Given the description of an element on the screen output the (x, y) to click on. 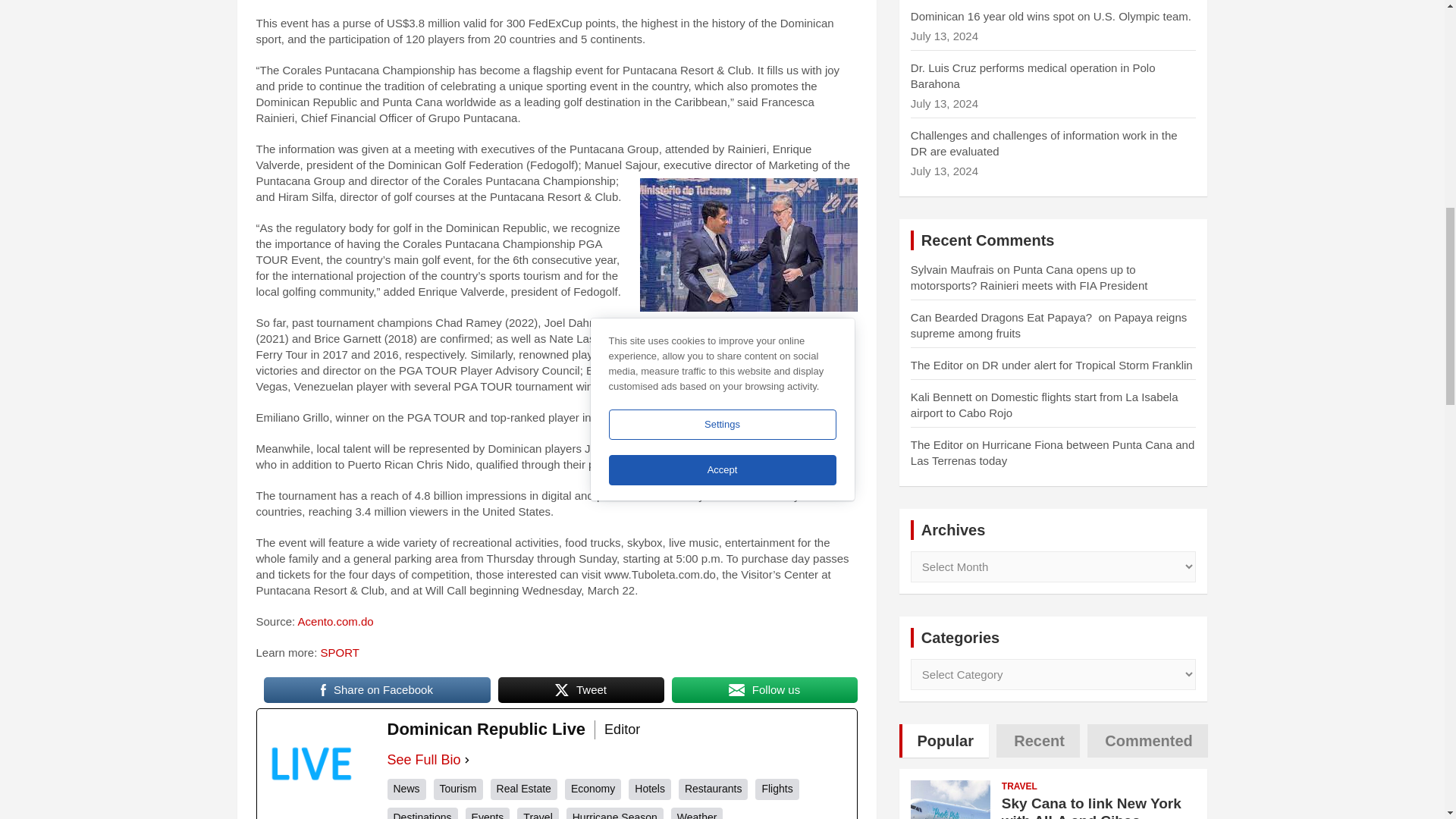
See Full Bio (423, 760)
SPORT  (341, 652)
Follow us (764, 689)
Acento.com.do (336, 621)
Acento.com.do (336, 621)
Tweet (580, 689)
Share on Facebook (376, 689)
Collado y Condor - DOMINICAN REPUBLIC LIVE (748, 245)
